Given the description of an element on the screen output the (x, y) to click on. 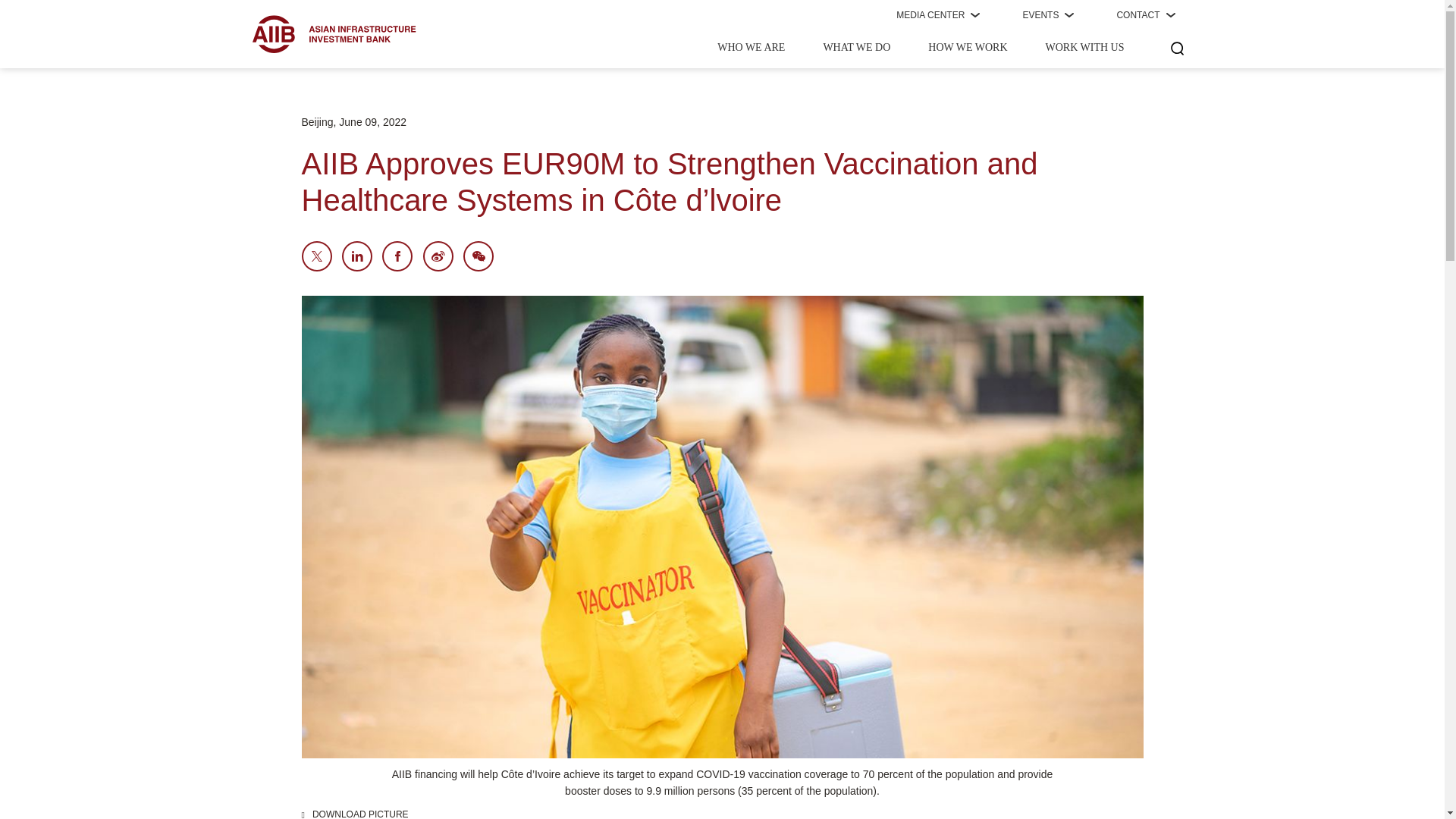
EVENTS (1048, 15)
WHO WE ARE (750, 48)
WHAT WE DO (855, 48)
MEDIA CENTER (937, 15)
CONTACT (1145, 15)
